Given the description of an element on the screen output the (x, y) to click on. 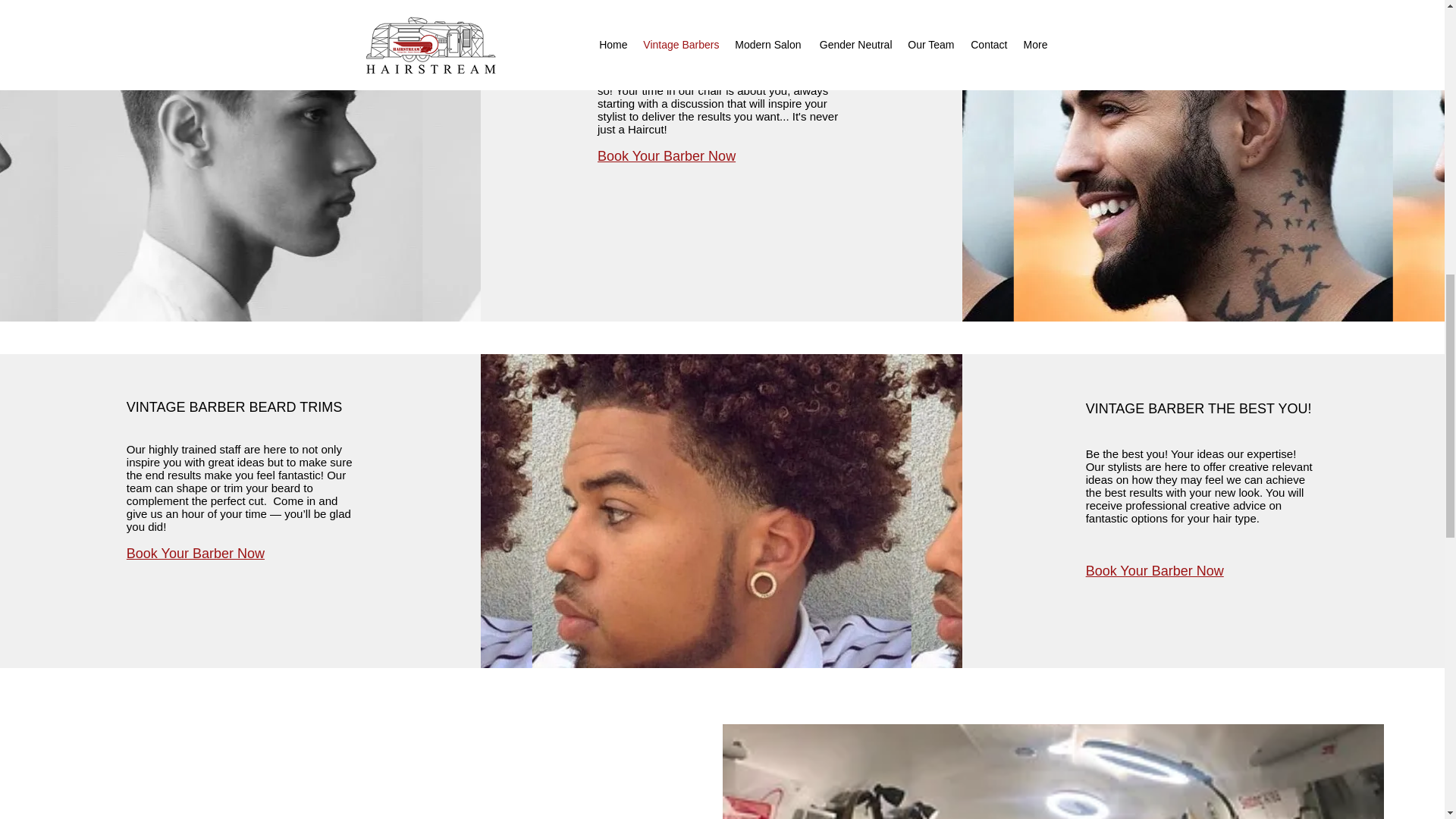
Book Your Barber Now (195, 553)
Book Your Barber Now (1155, 570)
Book Your Barber Now (665, 155)
